Given the description of an element on the screen output the (x, y) to click on. 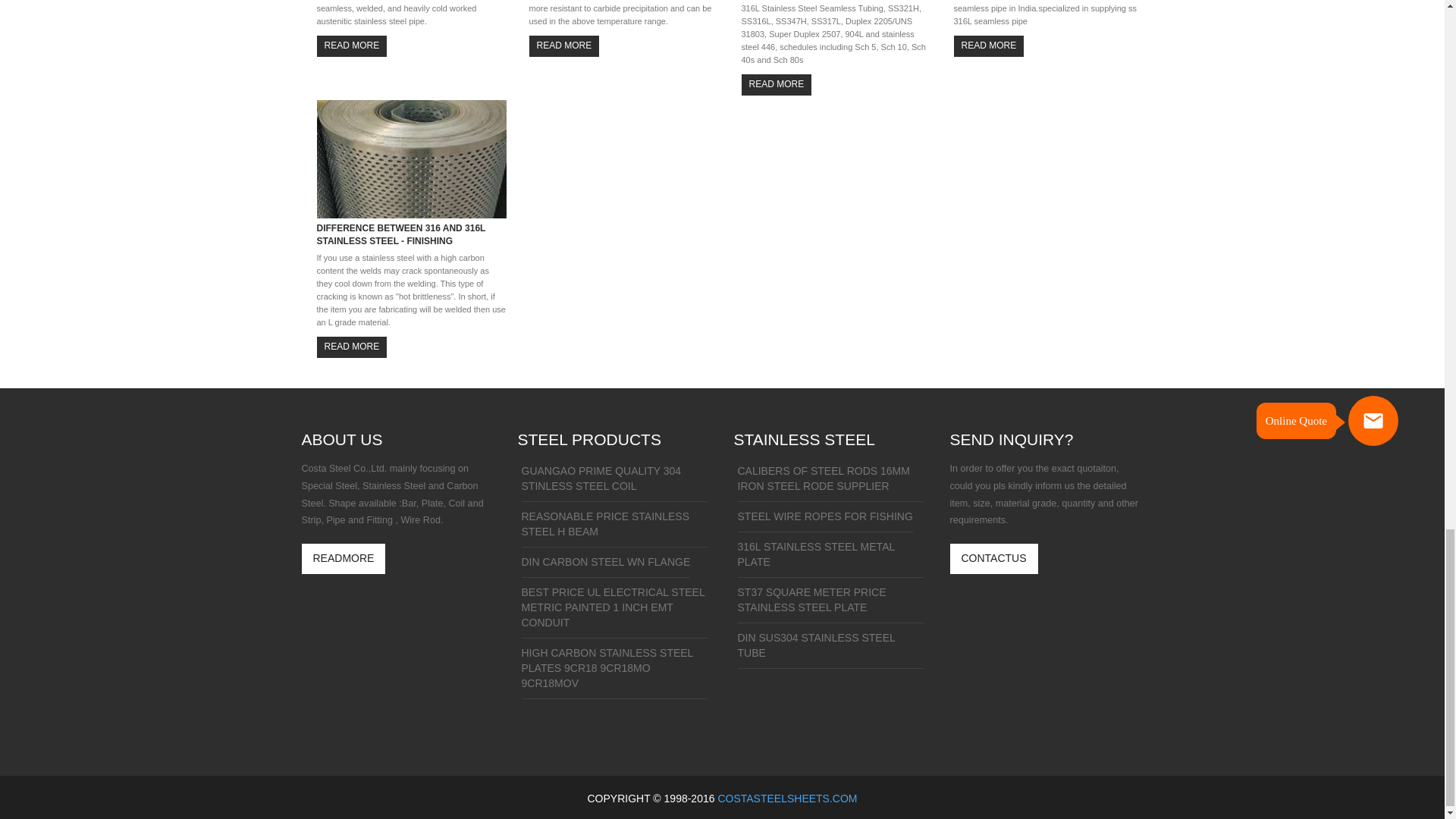
READ MORE (352, 46)
STEEL WIRE ROPES FOR FISHING (824, 520)
DIN SUS304 STAINLESS STEEL TUBE (829, 649)
CALIBERS OF STEEL RODS 16MM IRON STEEL RODE SUPPLIER (829, 483)
316L STAINLESS STEEL METAL PLATE (829, 558)
READ MORE (776, 84)
READMORE (343, 558)
REASONABLE PRICE STAINLESS STEEL H BEAM (614, 528)
READ MORE (989, 46)
READ MORE (564, 46)
